Given the description of an element on the screen output the (x, y) to click on. 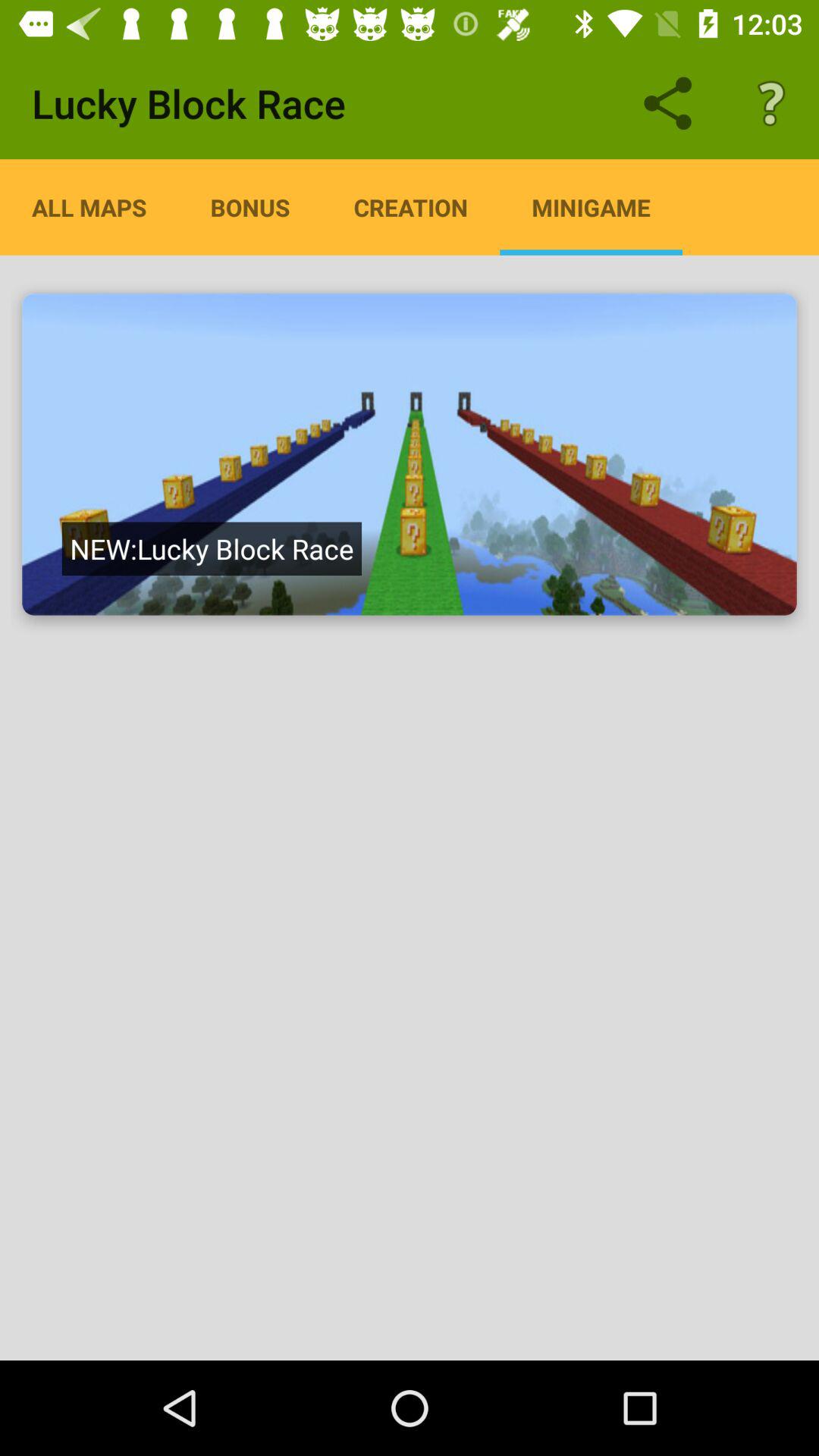
open bonus item (249, 207)
